Given the description of an element on the screen output the (x, y) to click on. 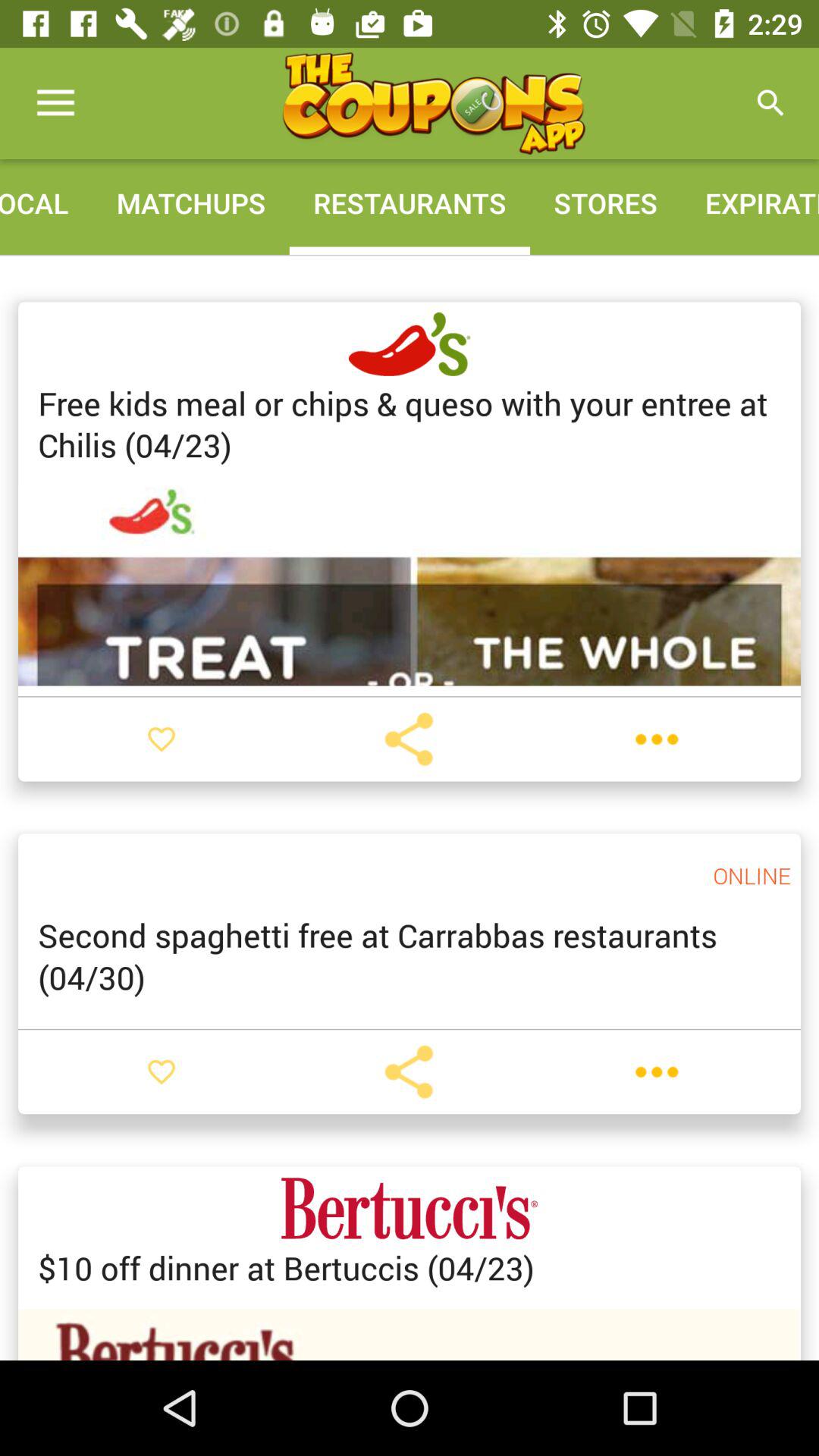
like button (161, 1071)
